Given the description of an element on the screen output the (x, y) to click on. 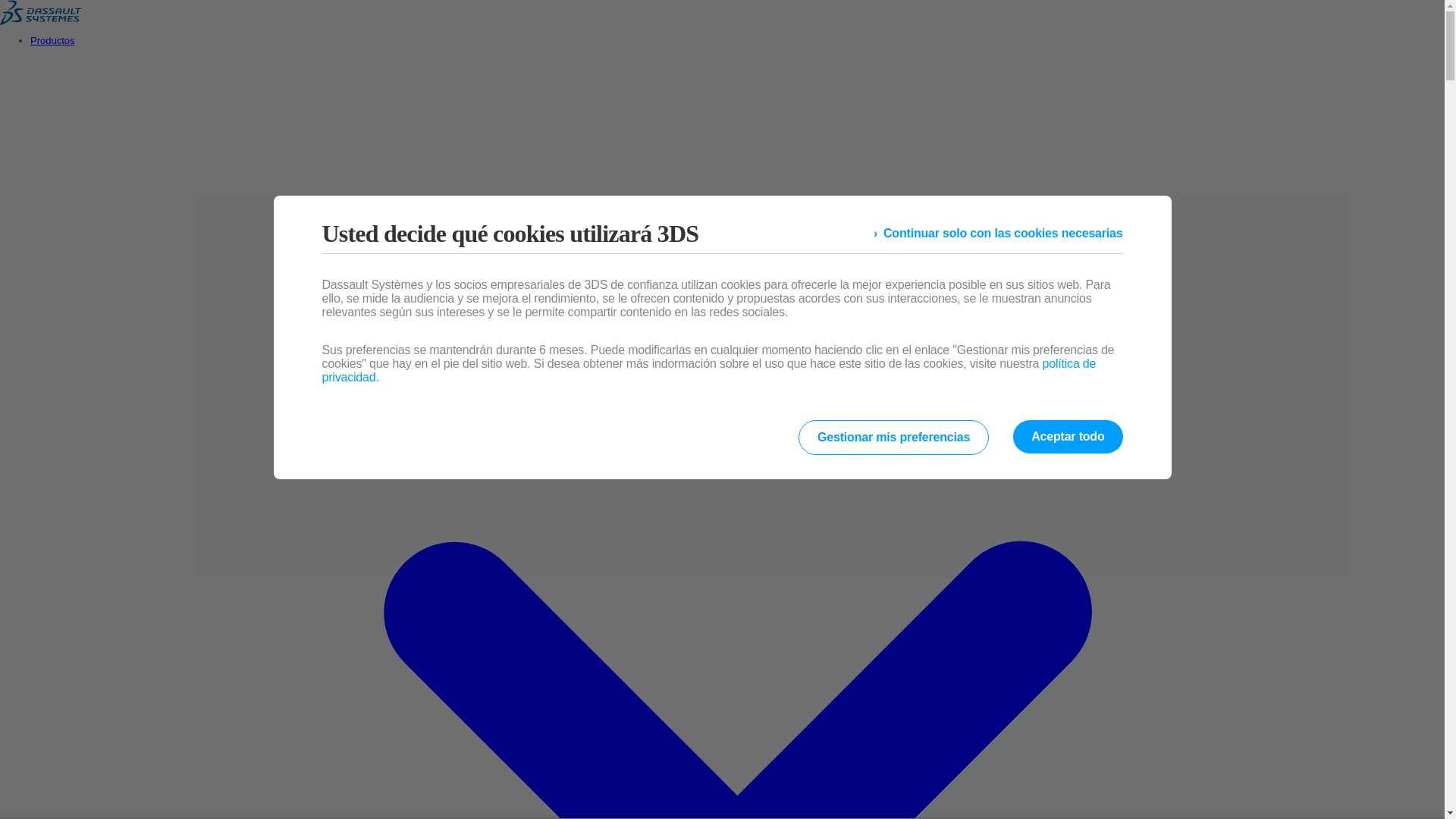
Aceptar todo (1067, 436)
Continuar solo con las cookies necesarias (997, 233)
Gestionar mis preferencias  (892, 437)
